Given the description of an element on the screen output the (x, y) to click on. 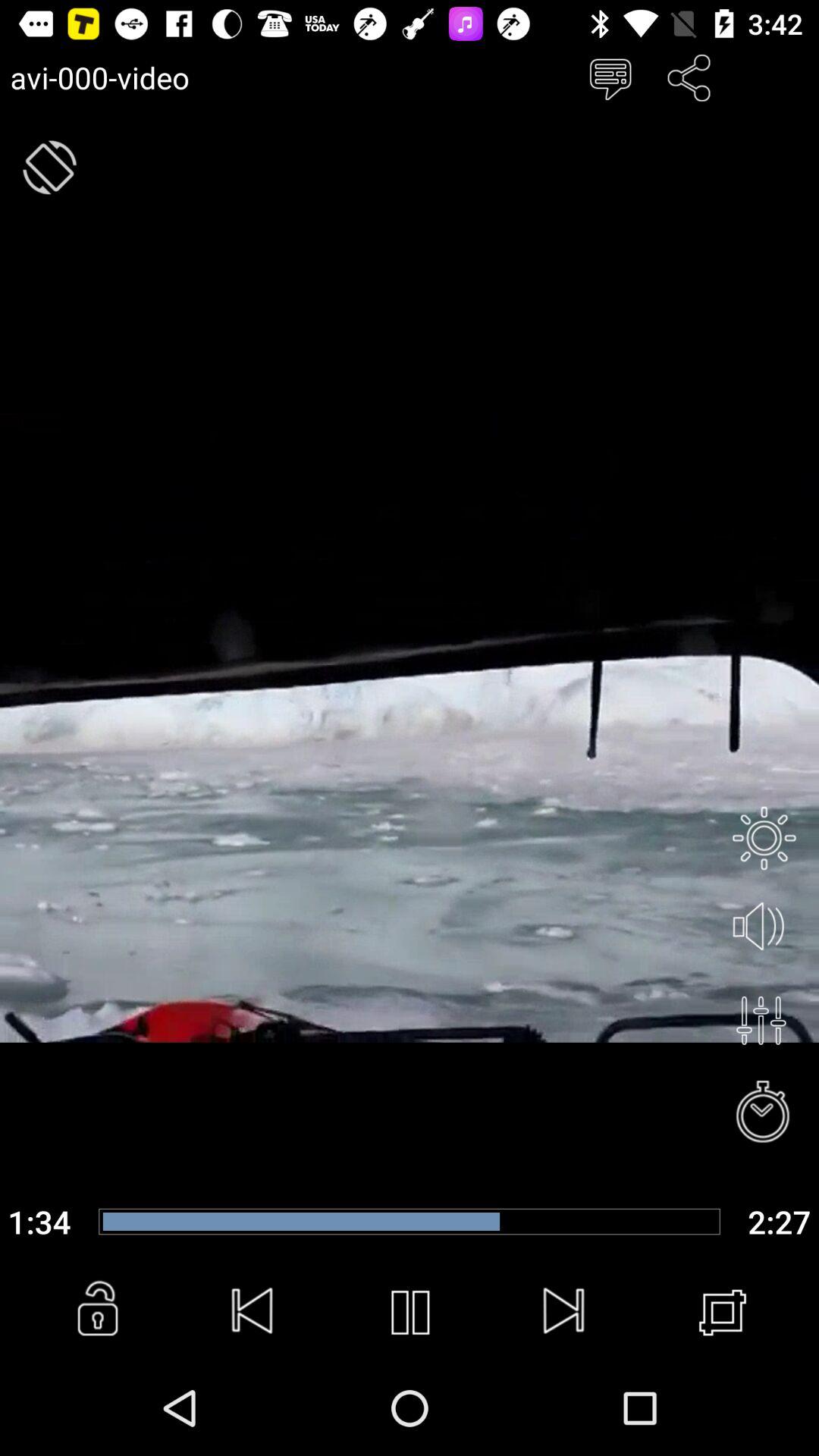
toggle audio (764, 927)
